Given the description of an element on the screen output the (x, y) to click on. 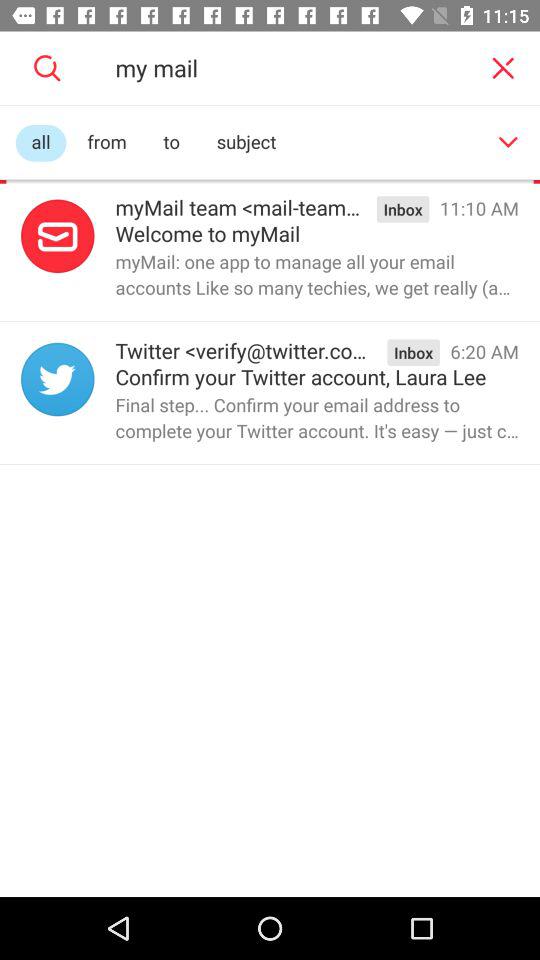
scroll down menu button (508, 142)
